Given the description of an element on the screen output the (x, y) to click on. 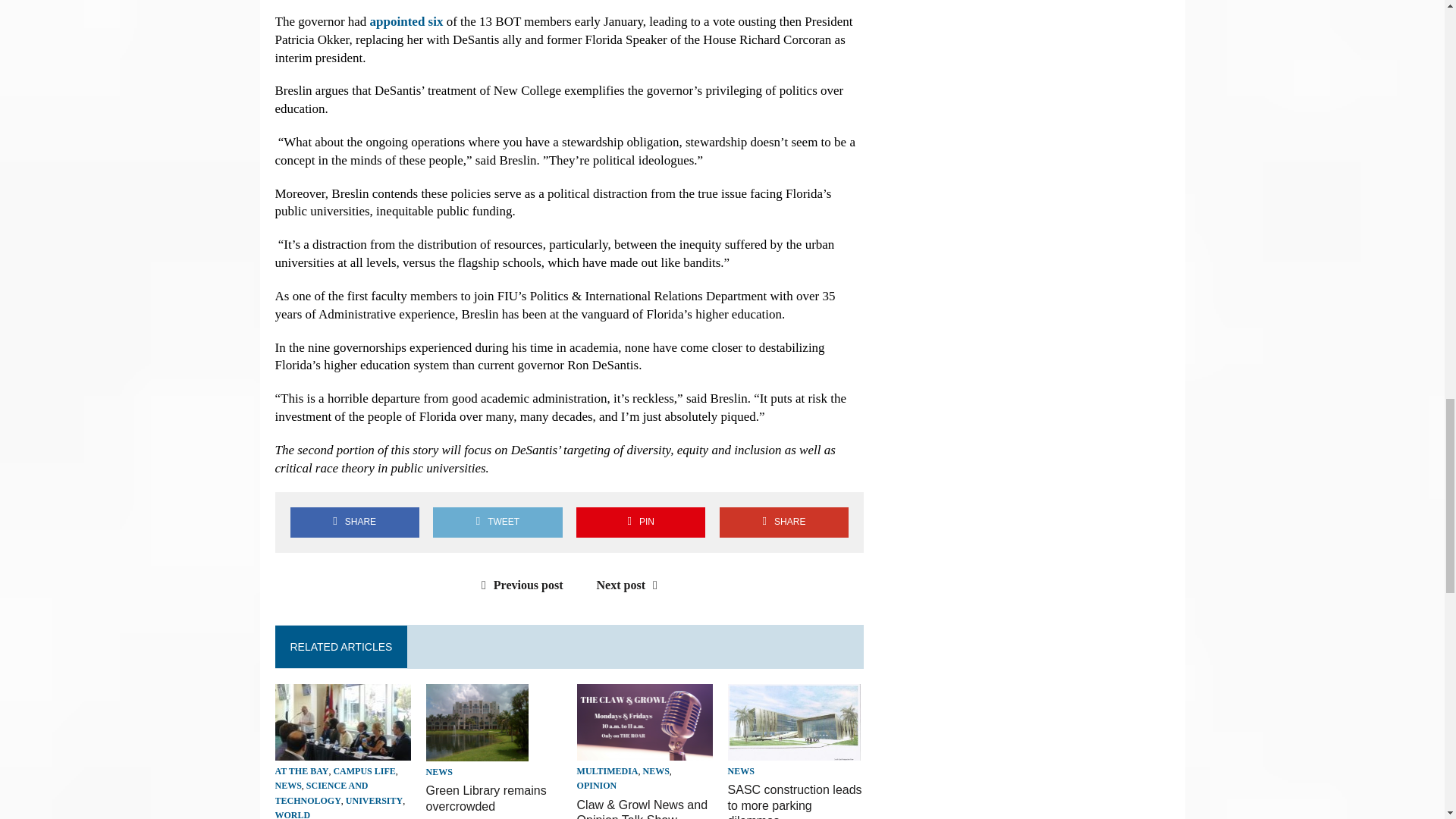
Share on Facebook (354, 521)
Pin This Post (640, 521)
Green Library remains overcrowded (486, 798)
Tweet This Post (497, 521)
SASC construction leads to more parking dilemmas (794, 800)
Red tide panel warns of threats to South Florida (342, 750)
Green Library remains overcrowded (477, 750)
SASC construction leads to more parking dilemmas (794, 749)
